Given the description of an element on the screen output the (x, y) to click on. 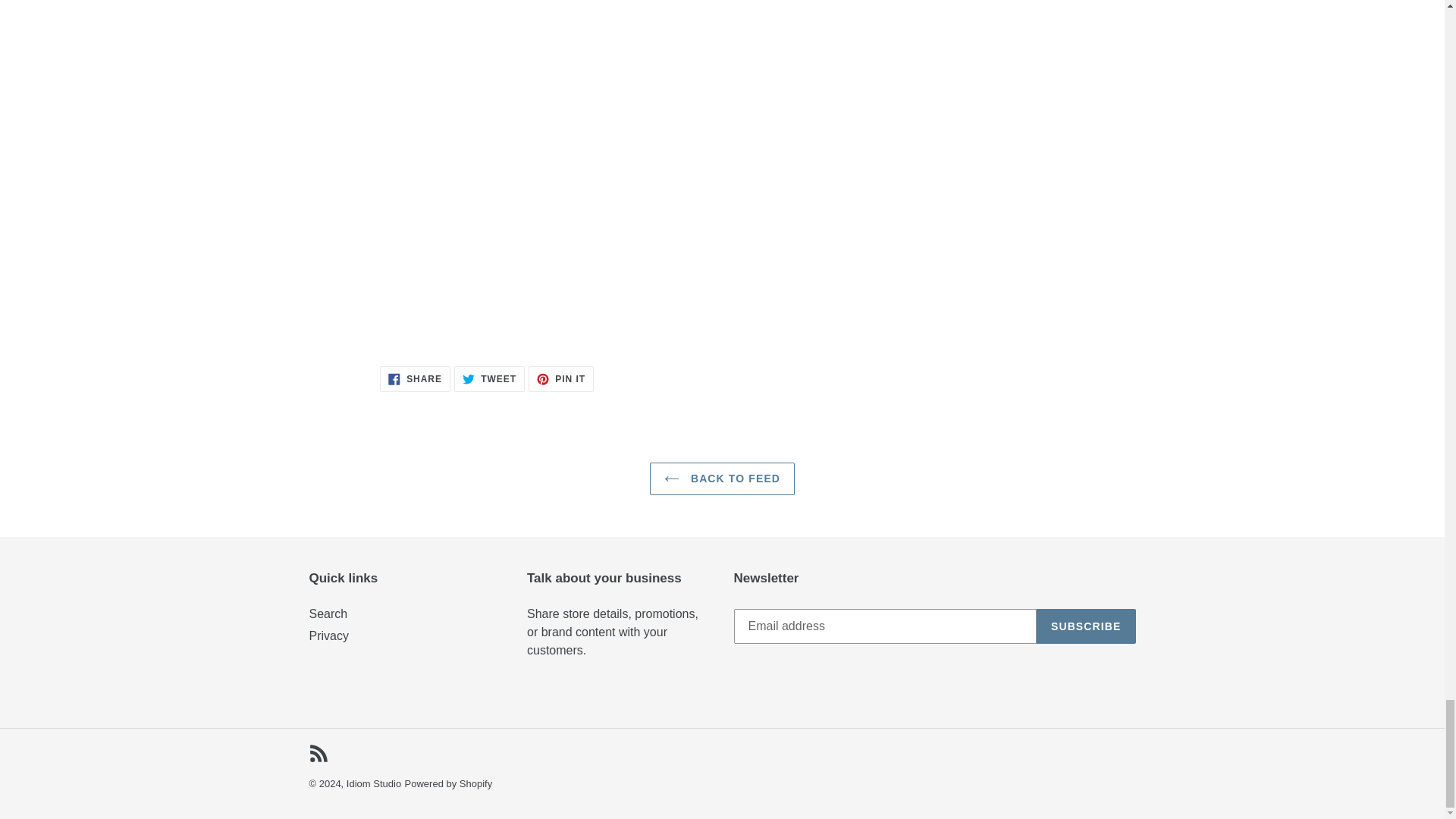
SUBSCRIBE (1085, 626)
Idiom Studio (373, 783)
BACK TO FEED (721, 478)
Search (327, 613)
Powered by Shopify (448, 783)
Privacy (328, 635)
RSS (489, 379)
